Given the description of an element on the screen output the (x, y) to click on. 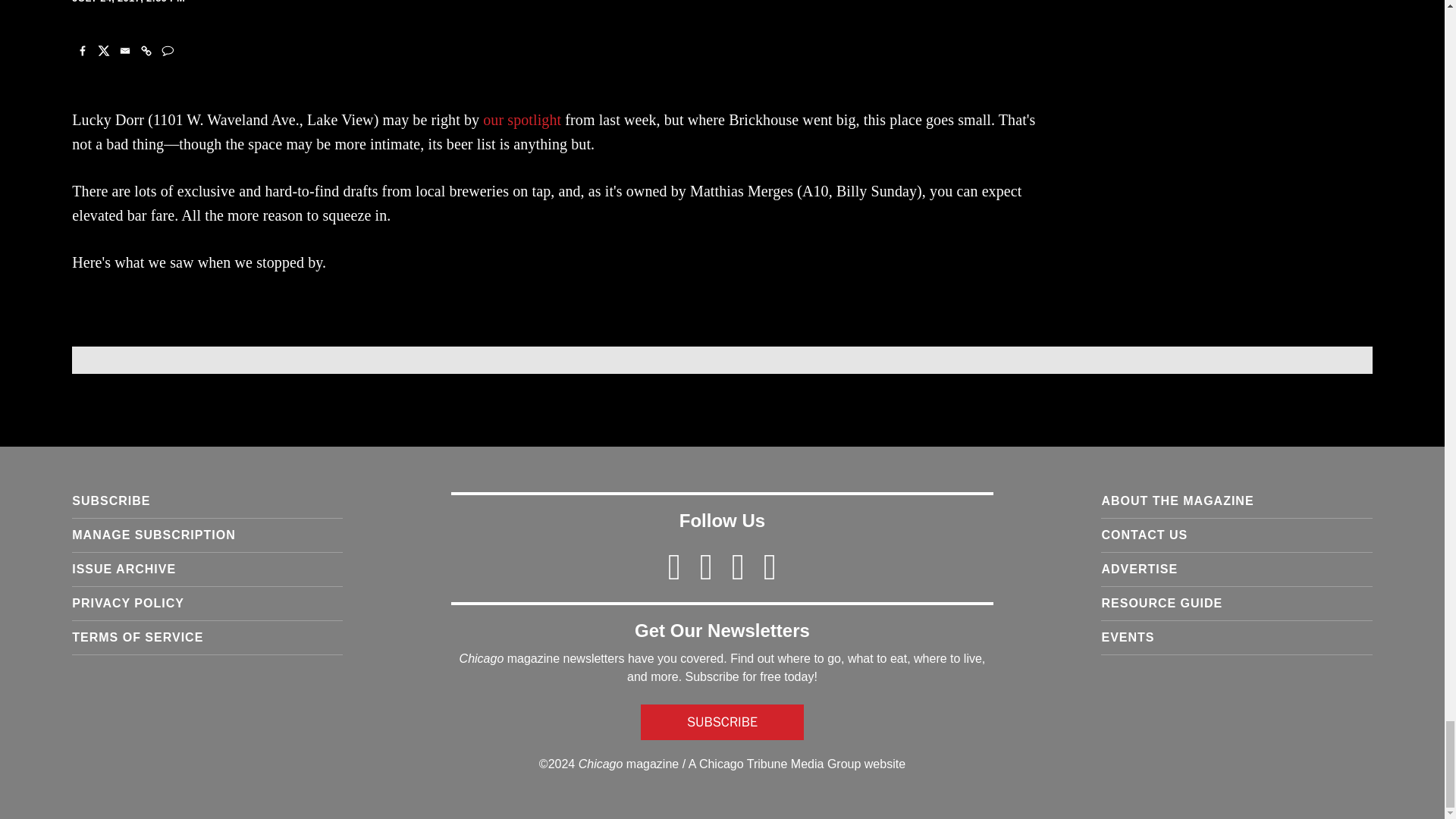
Copy Link (145, 50)
Facebook (82, 50)
comment (167, 50)
Email (124, 50)
X (103, 50)
